Given the description of an element on the screen output the (x, y) to click on. 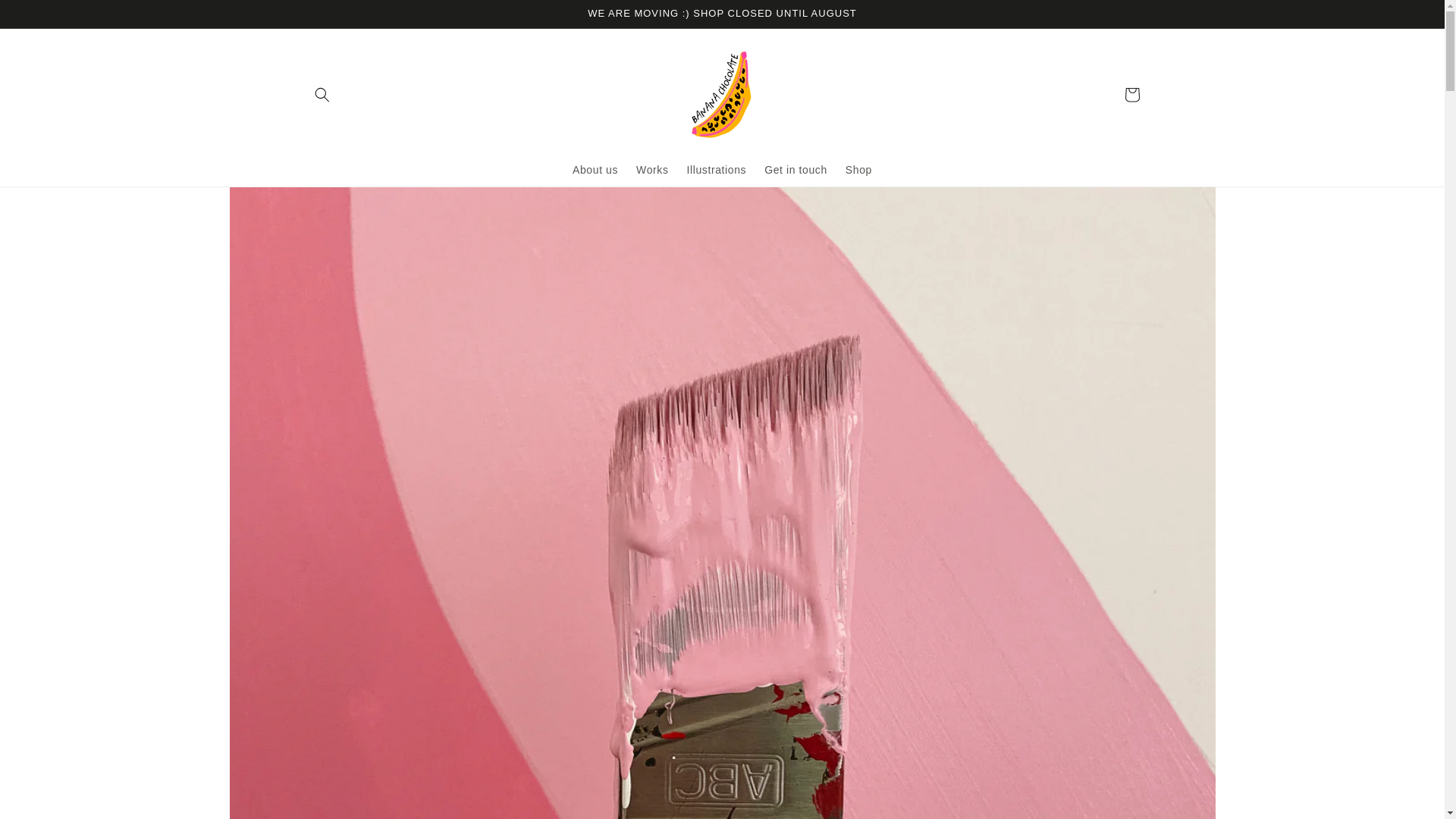
Get in touch (795, 169)
Shop (857, 169)
Works (652, 169)
Illustrations (716, 169)
About us (595, 169)
Cart (1131, 94)
Skip to content (46, 18)
